Given the description of an element on the screen output the (x, y) to click on. 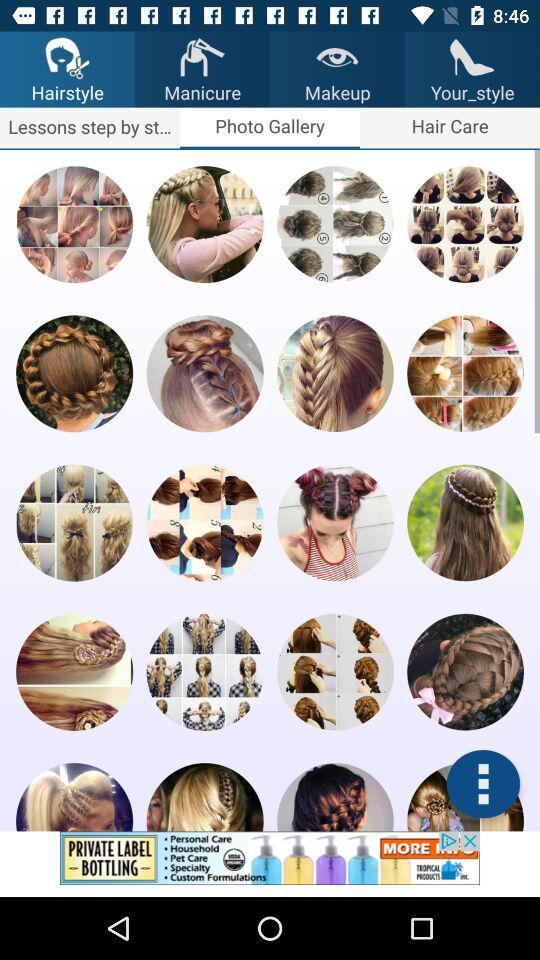
click the style (335, 797)
